Given the description of an element on the screen output the (x, y) to click on. 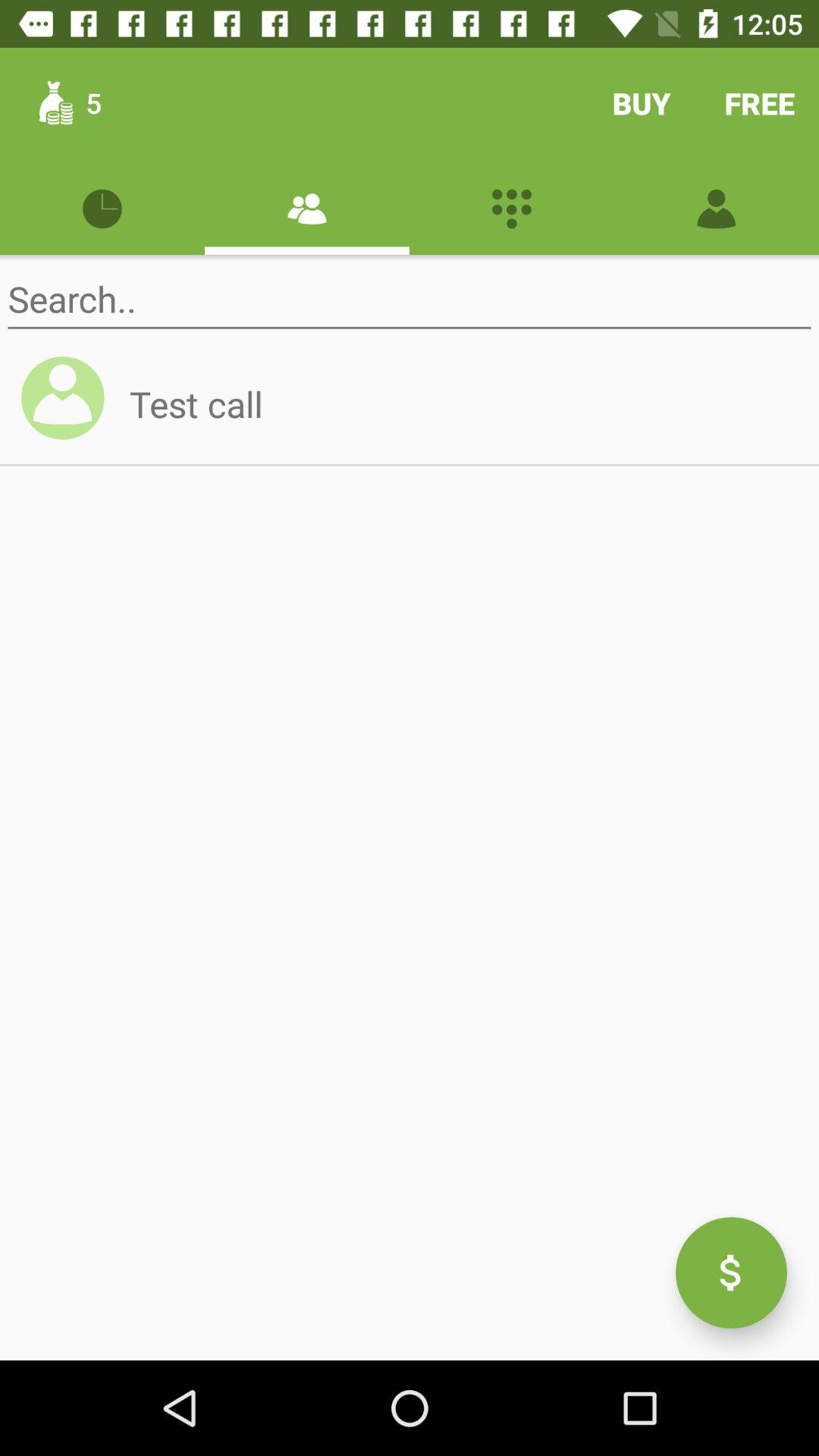
choose test call item (464, 403)
